Given the description of an element on the screen output the (x, y) to click on. 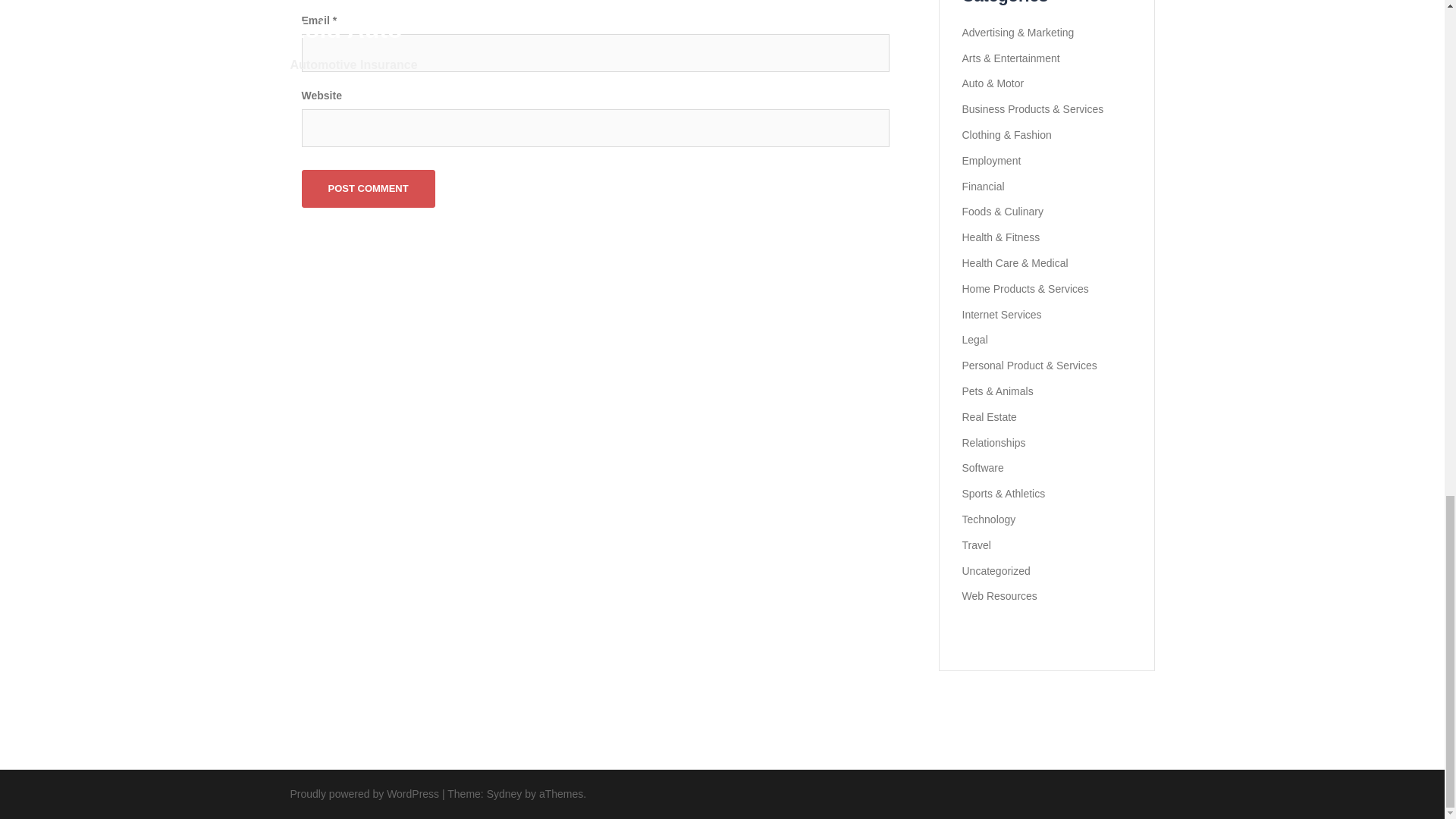
Post Comment (368, 188)
Post Comment (368, 188)
